Given the description of an element on the screen output the (x, y) to click on. 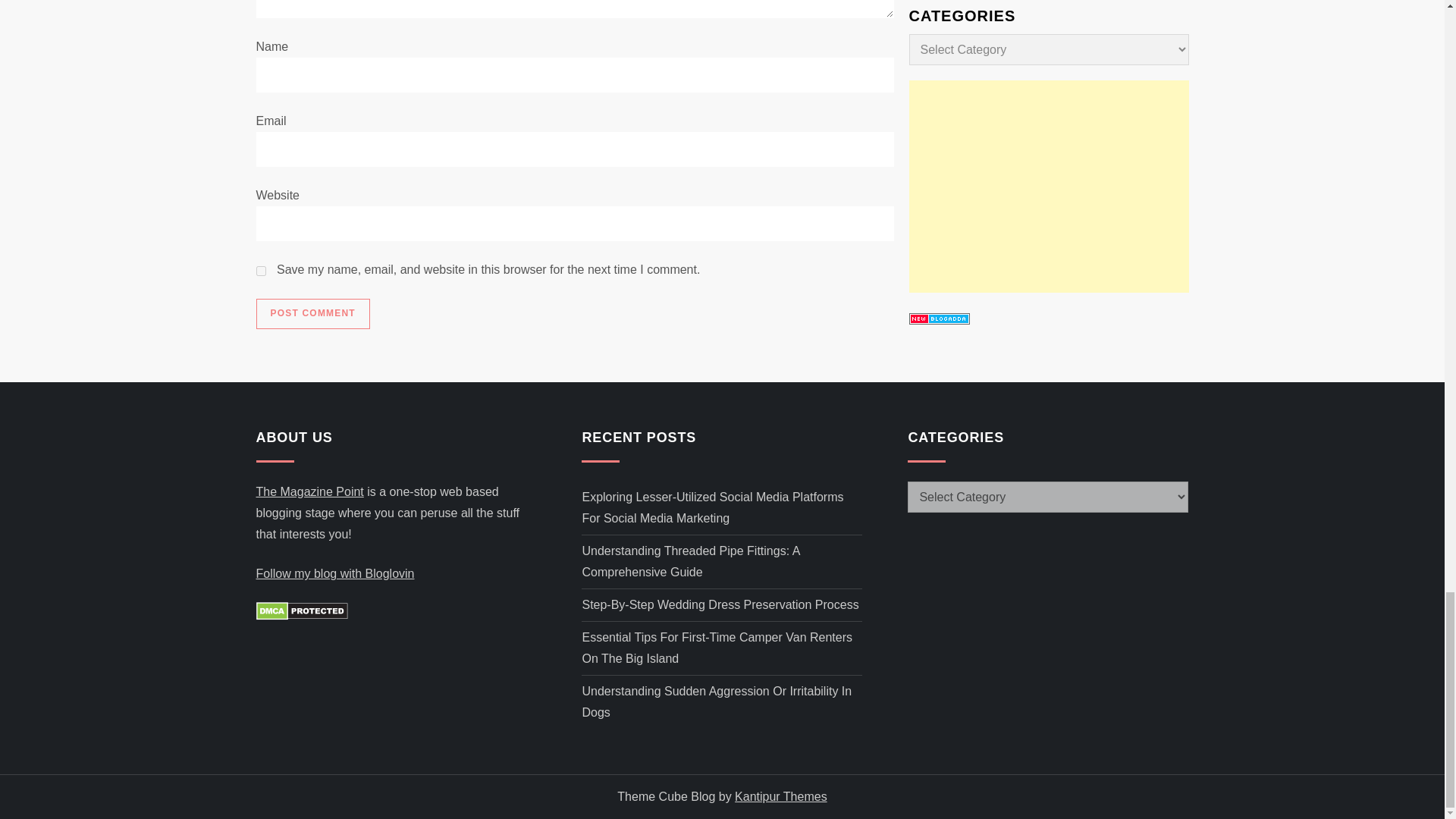
DMCA.com Protection Status (301, 609)
yes (261, 271)
Post Comment (312, 313)
